Given the description of an element on the screen output the (x, y) to click on. 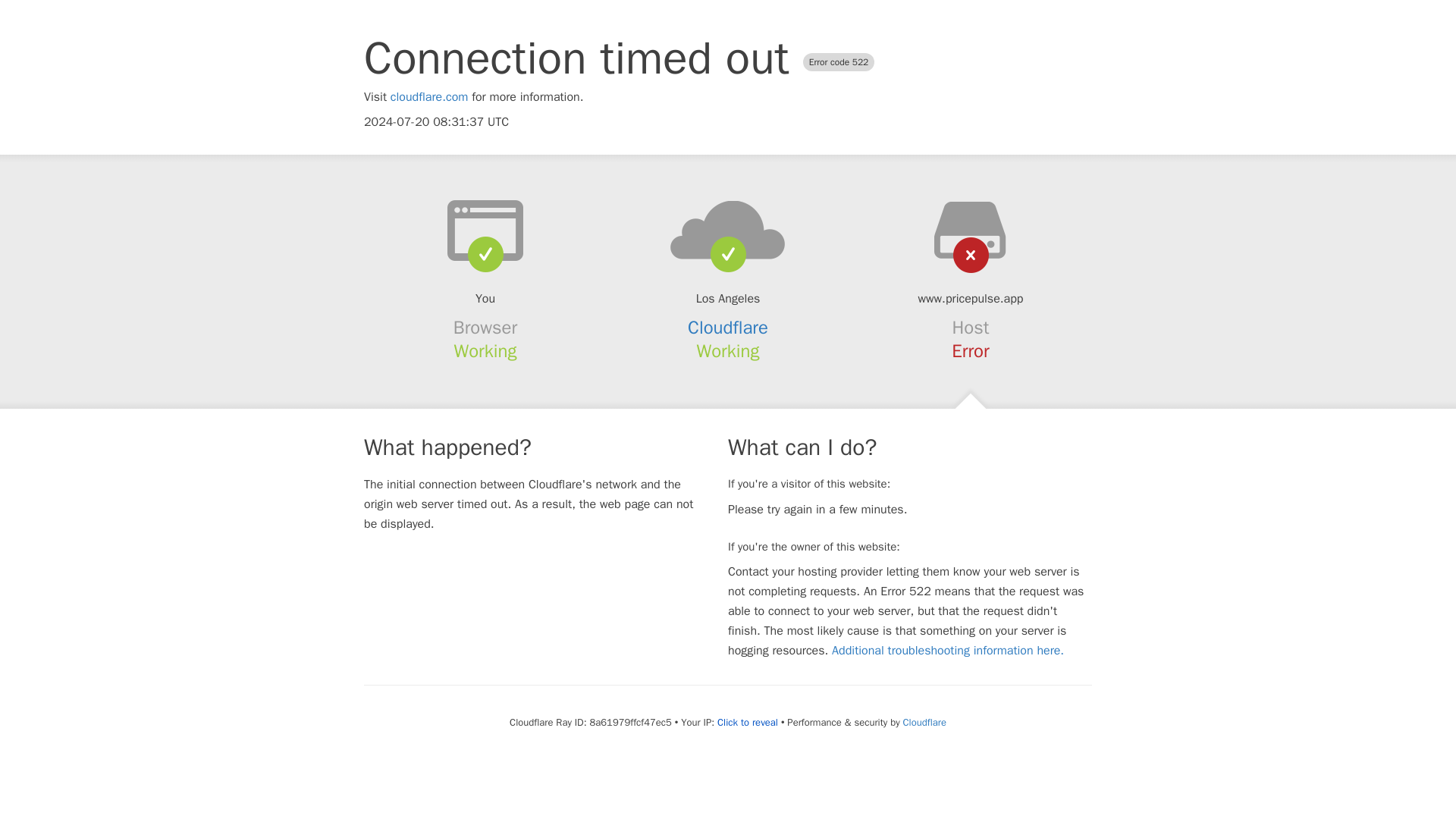
Cloudflare (727, 327)
Additional troubleshooting information here. (947, 650)
Click to reveal (747, 722)
cloudflare.com (429, 96)
Cloudflare (924, 721)
